Given the description of an element on the screen output the (x, y) to click on. 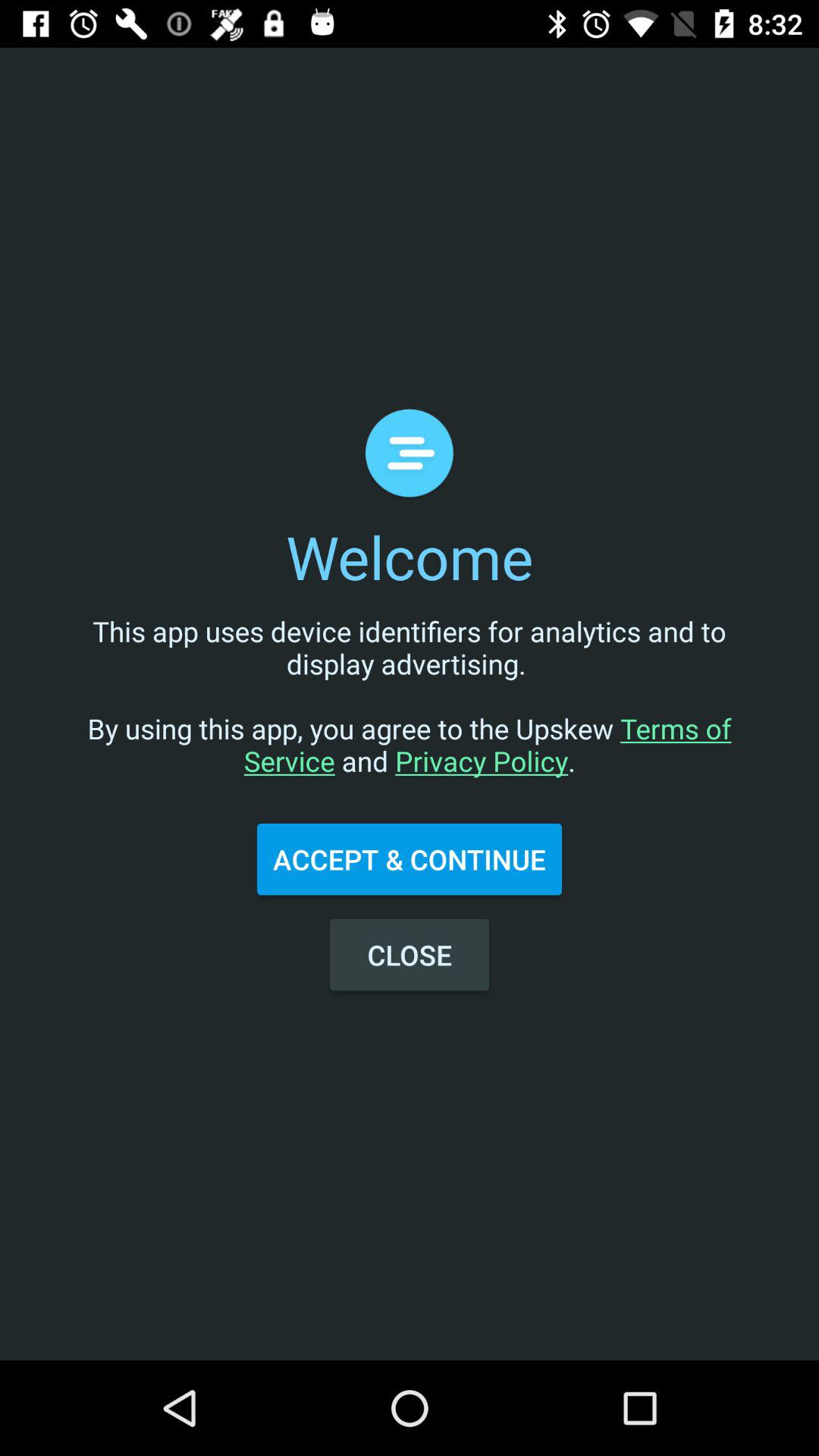
flip until this app uses (409, 711)
